Given the description of an element on the screen output the (x, y) to click on. 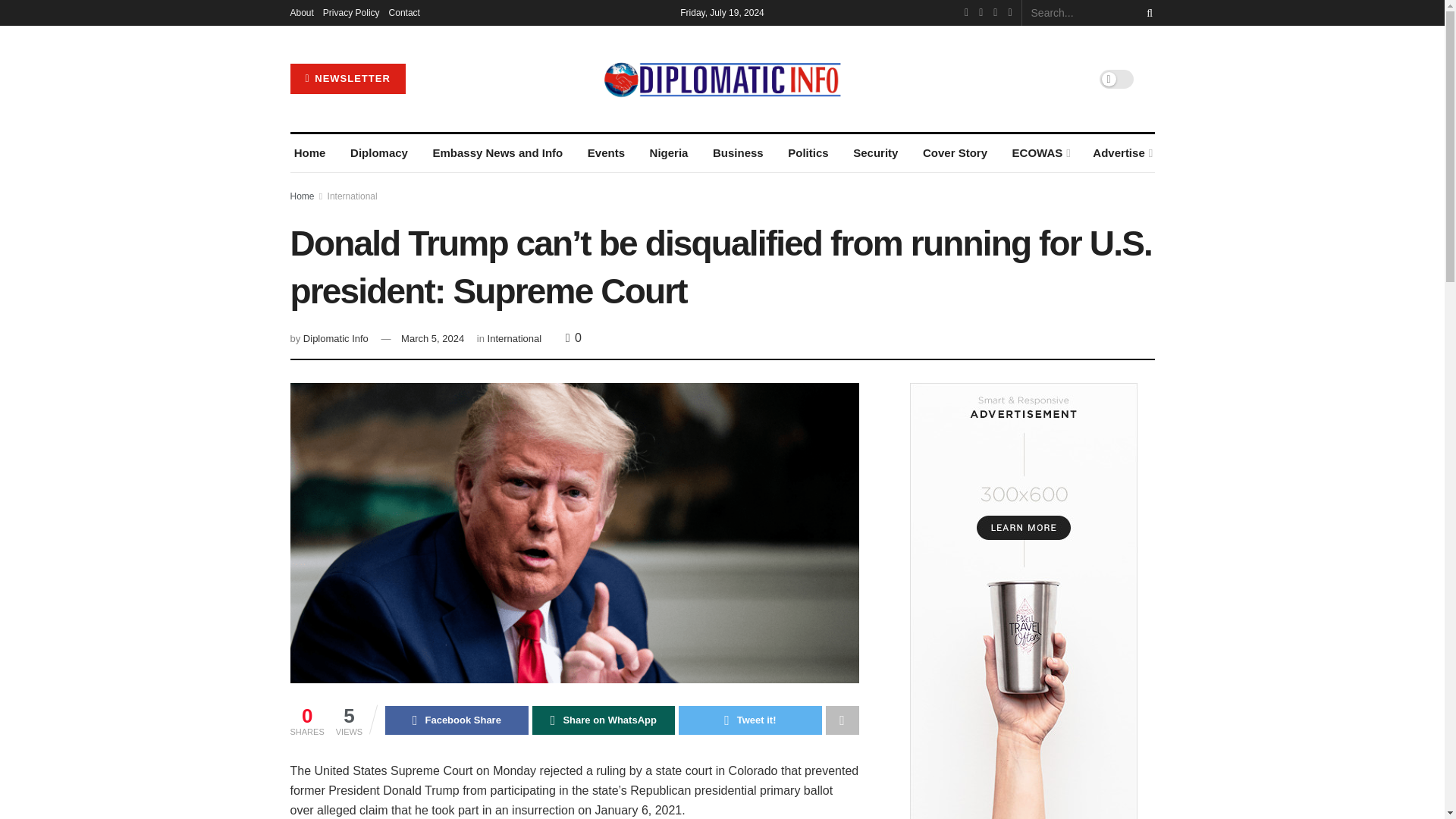
Embassy News and Info (497, 152)
Events (605, 152)
Security (875, 152)
Business (738, 152)
ECOWAS (1039, 152)
Nigeria (668, 152)
Contact (404, 12)
Cover Story (954, 152)
Diplomacy (379, 152)
NEWSLETTER (346, 78)
Politics (808, 152)
Privacy Policy (351, 12)
Advertise (1121, 152)
Home (309, 152)
About (301, 12)
